Given the description of an element on the screen output the (x, y) to click on. 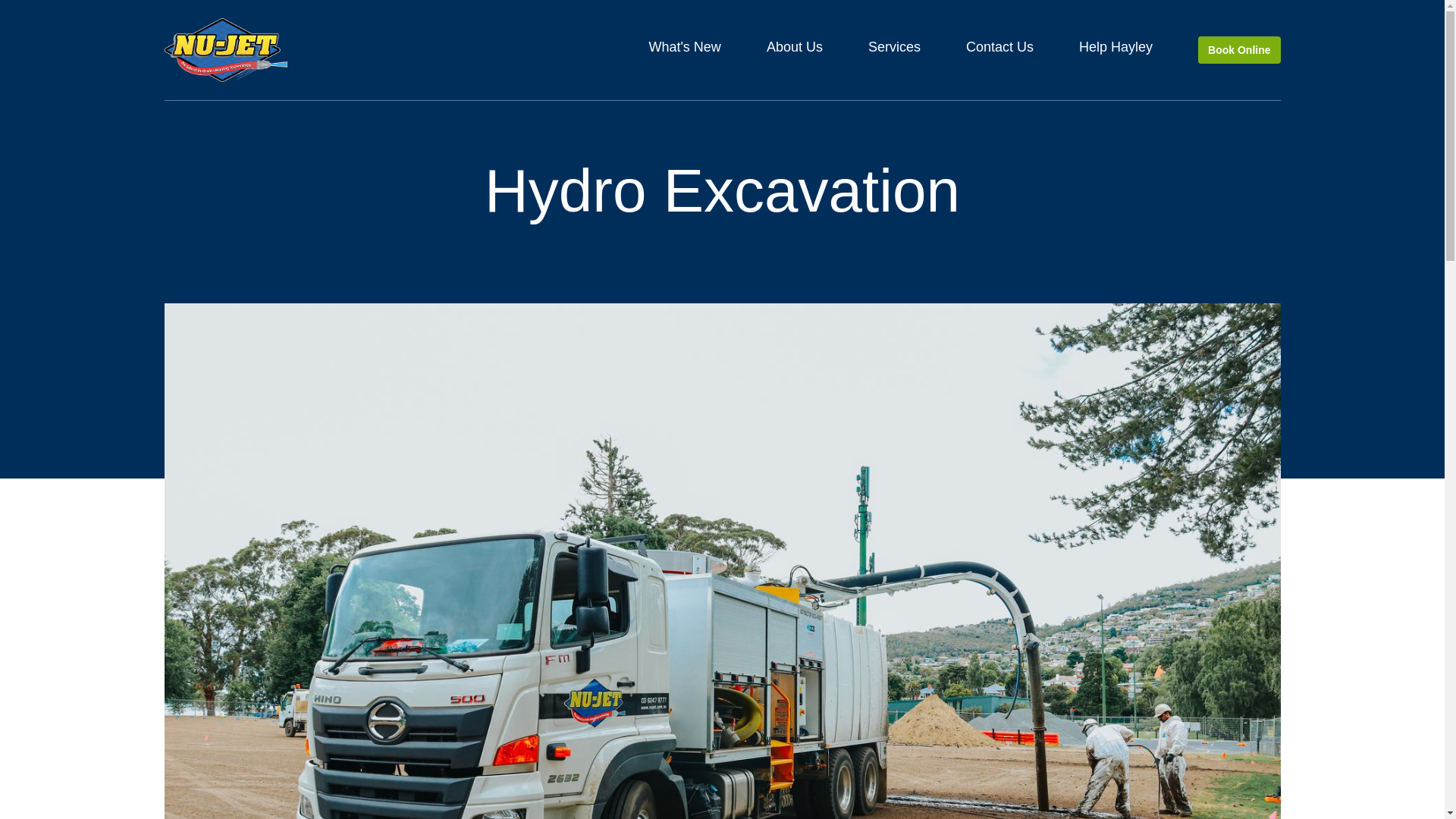
Services (893, 50)
Help Hayley (1115, 50)
Contact Us (999, 50)
Home (224, 49)
What's New (683, 50)
Book Online (1238, 49)
About Us (794, 50)
